Given the description of an element on the screen output the (x, y) to click on. 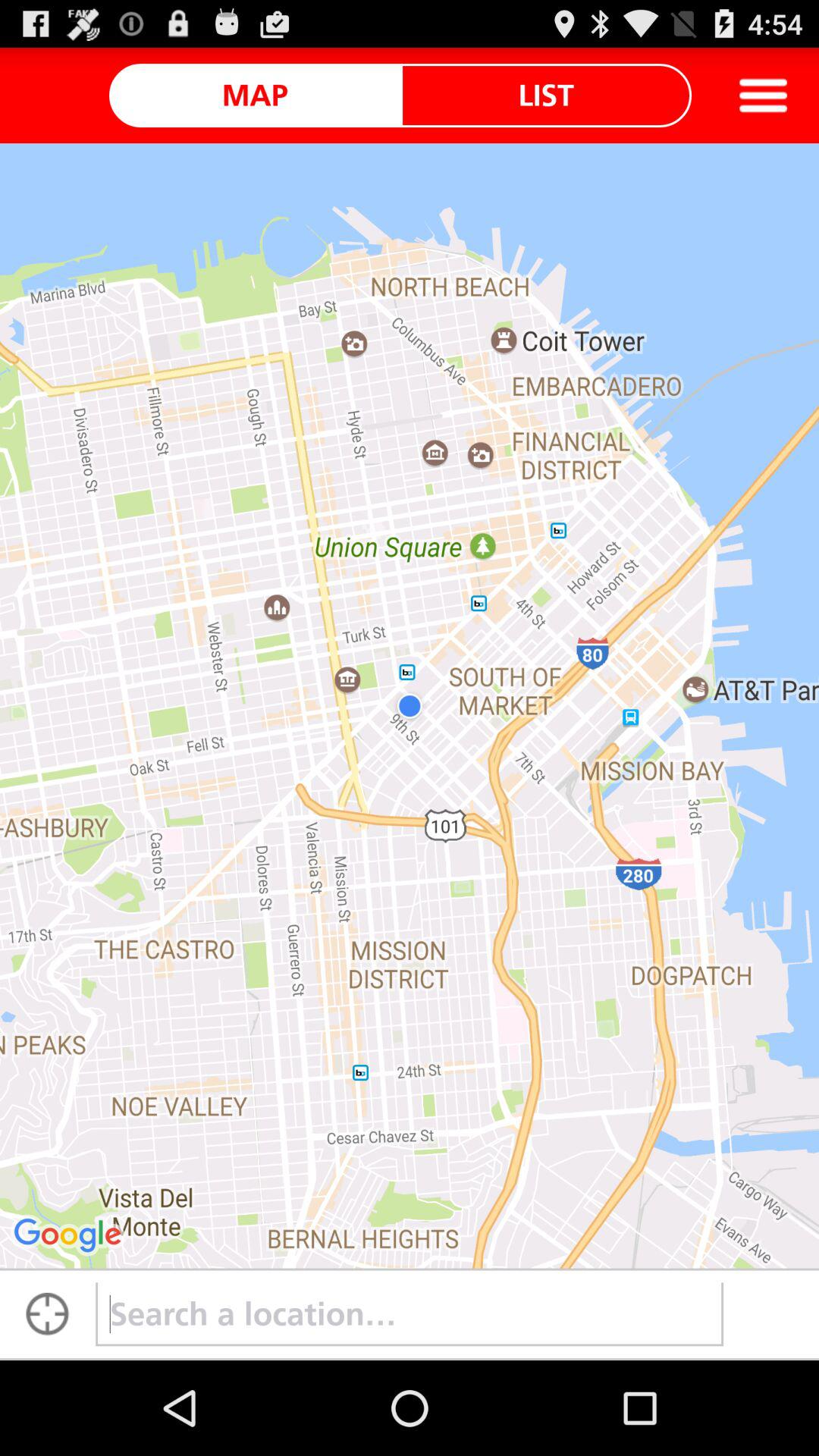
find my current location (47, 1314)
